Given the description of an element on the screen output the (x, y) to click on. 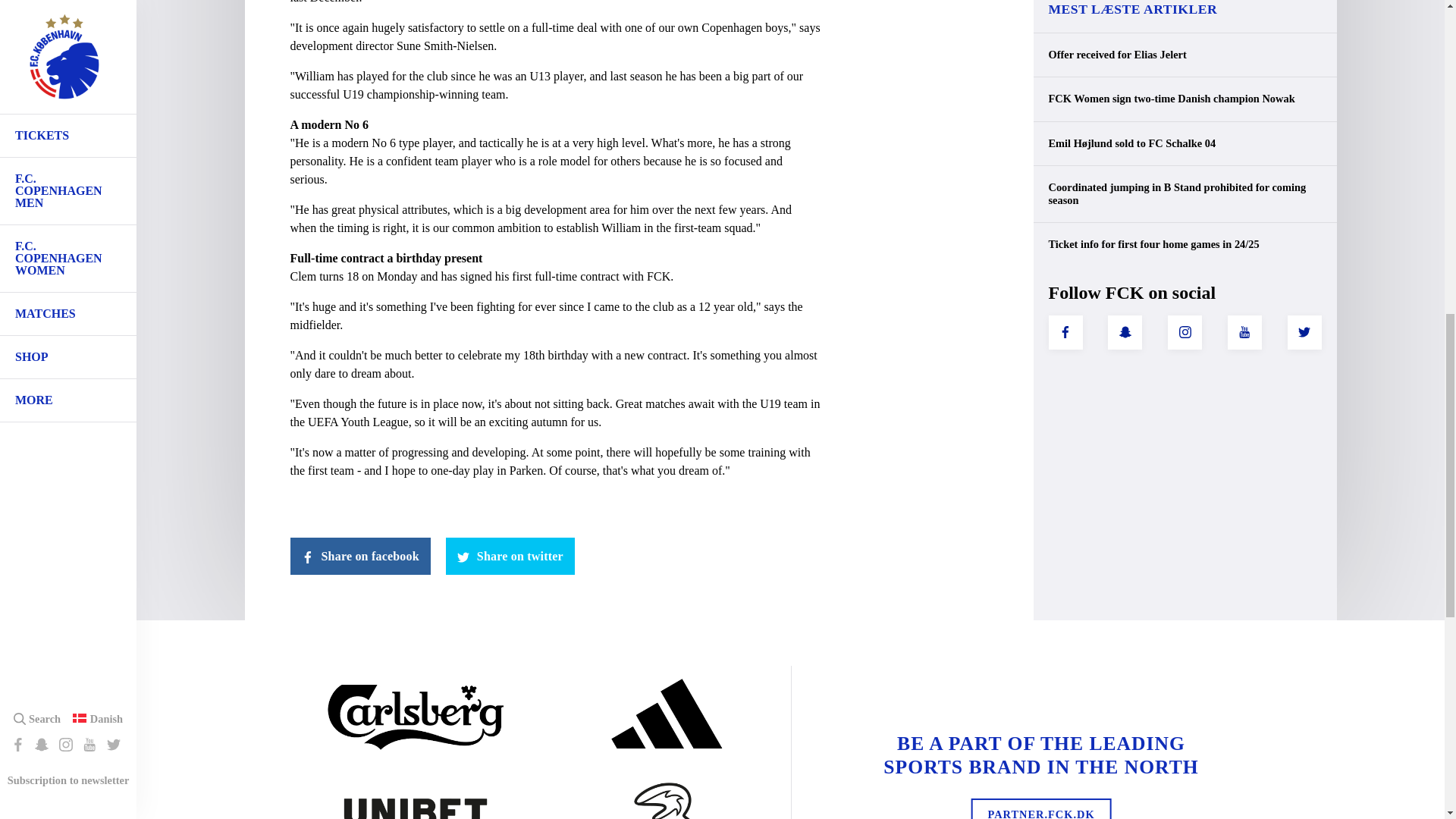
Share on facebook (359, 555)
Share on twitter (510, 555)
